Given the description of an element on the screen output the (x, y) to click on. 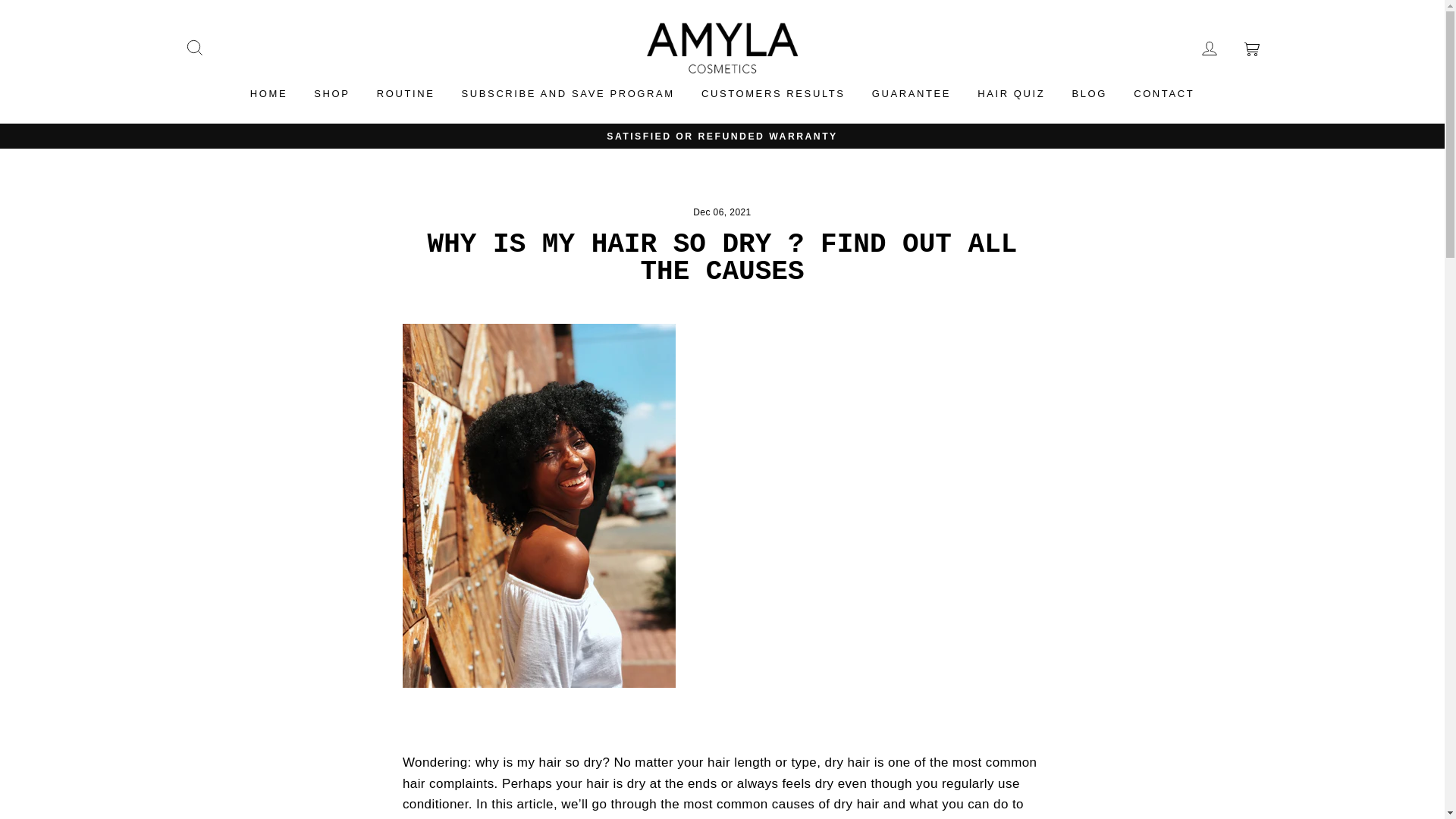
SUBSCRIBE AND SAVE PROGRAM (567, 94)
SHOP (331, 94)
CONTACT (1163, 94)
LOG IN (1208, 47)
SEARCH (194, 47)
HAIR QUIZ (1011, 94)
ROUTINE (405, 94)
GUARANTEE (911, 94)
HOME (268, 94)
CUSTOMERS RESULTS (773, 94)
BLOG (1088, 94)
